Given the description of an element on the screen output the (x, y) to click on. 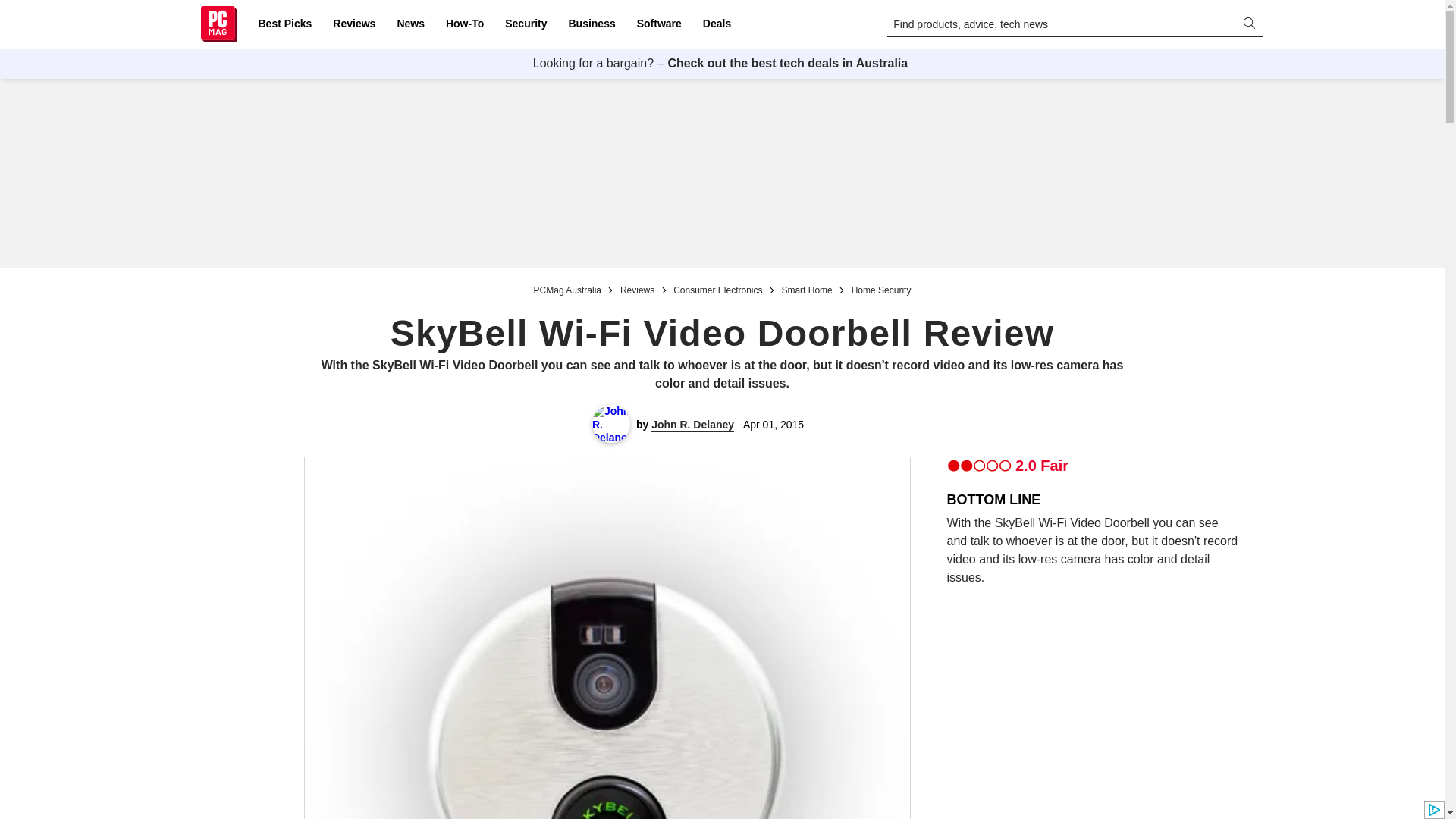
Reviews (353, 24)
How-To (464, 24)
Security (526, 24)
Business (591, 24)
Best Picks (284, 24)
